Given the description of an element on the screen output the (x, y) to click on. 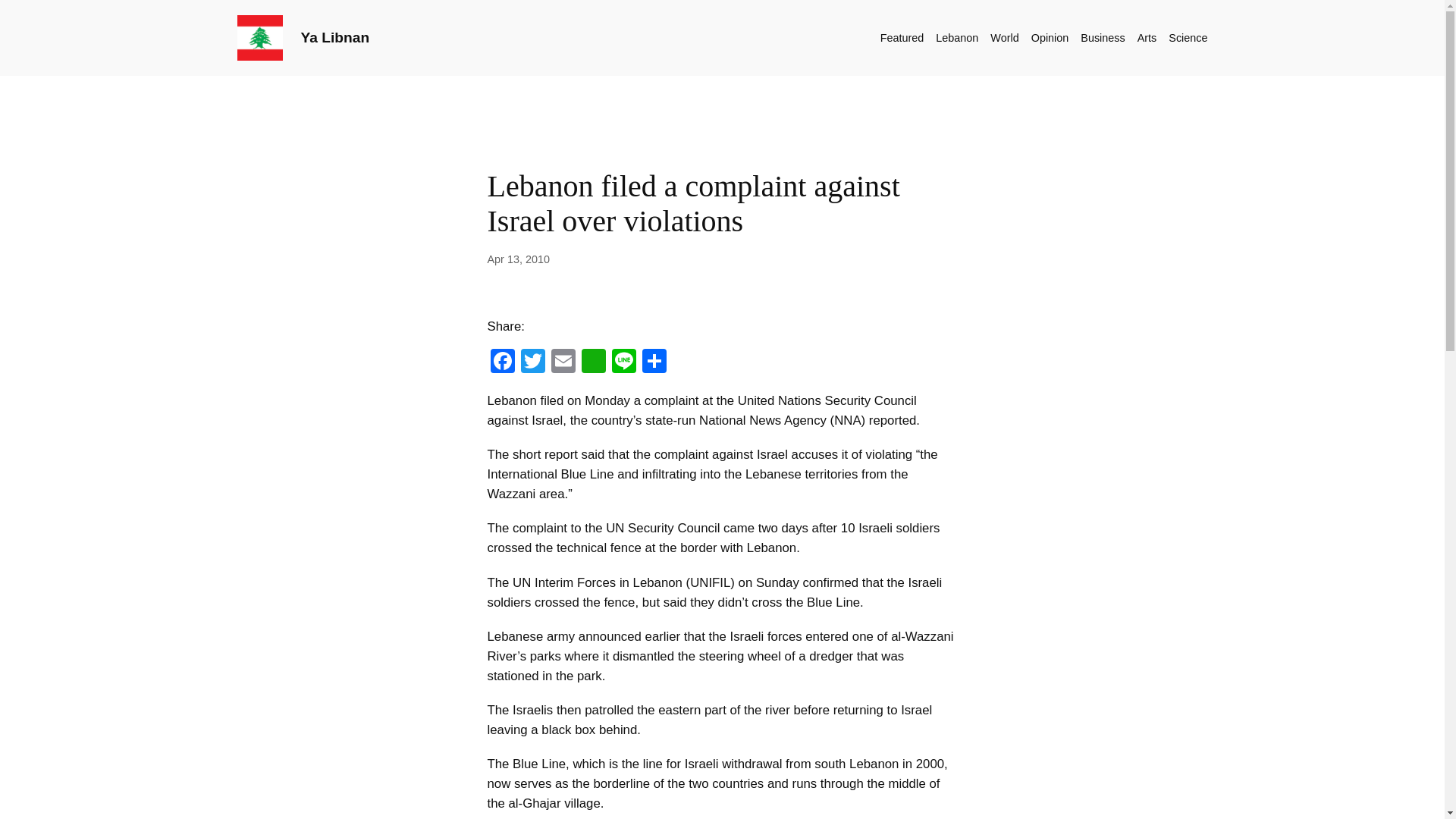
Opinion (1049, 37)
Science (1188, 37)
Email (562, 362)
Arts (1147, 37)
Facebook (501, 362)
Featured (902, 37)
Twitter (531, 362)
WhatsApp (593, 362)
Line (623, 362)
Apr 13, 2010 (517, 259)
Email (562, 362)
Line (623, 362)
Twitter (531, 362)
WhatsApp (593, 362)
World (1003, 37)
